Given the description of an element on the screen output the (x, y) to click on. 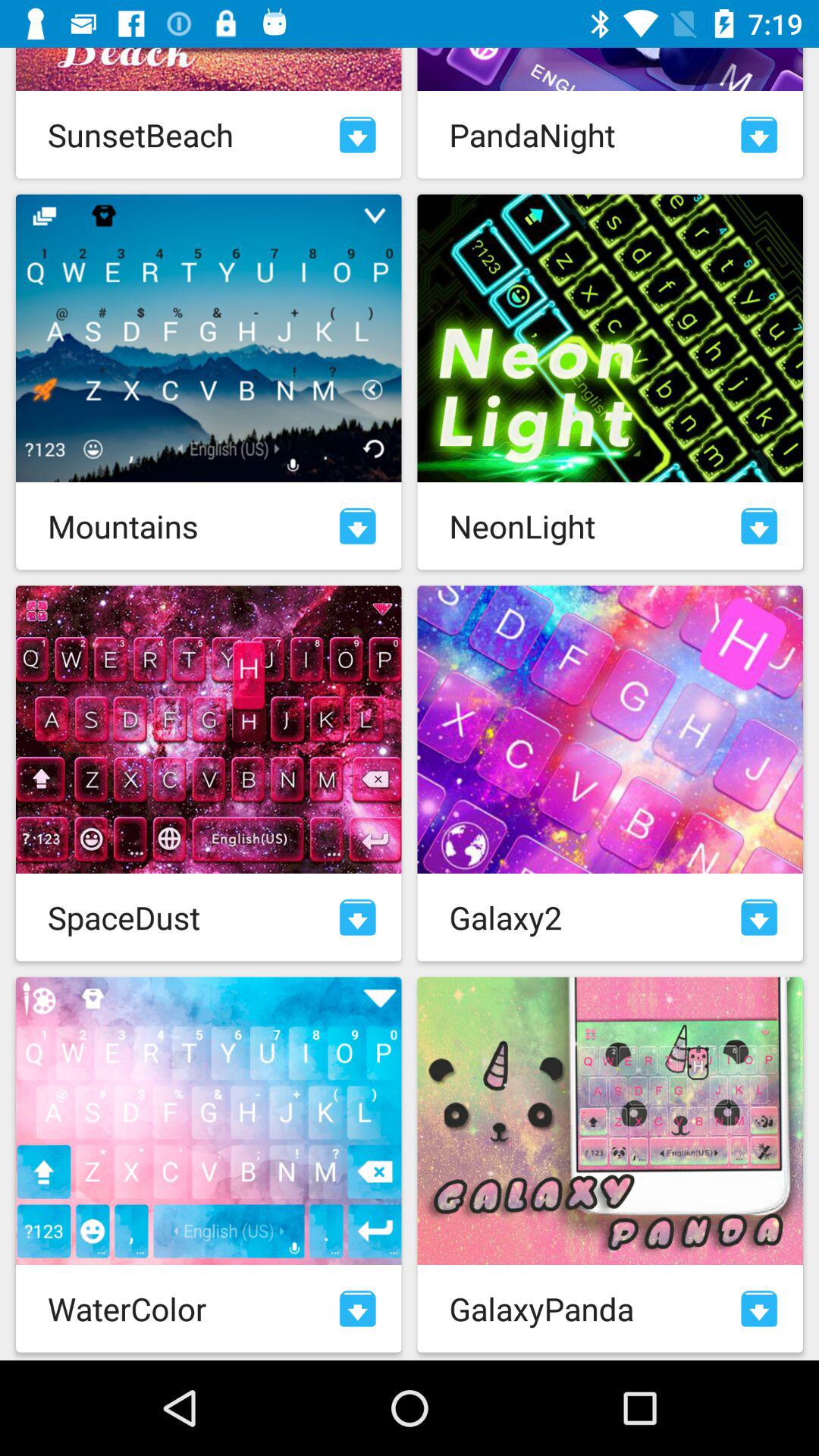
download button (357, 525)
